Given the description of an element on the screen output the (x, y) to click on. 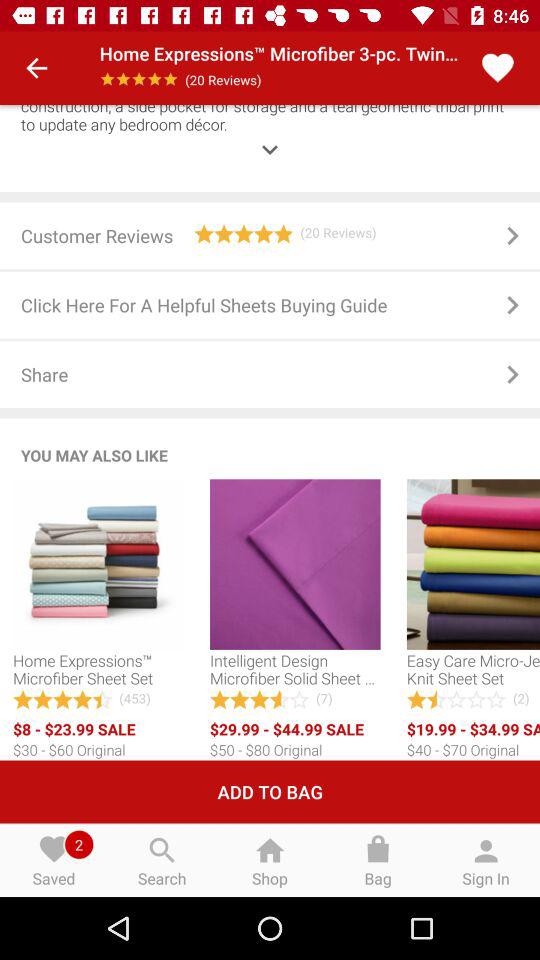
favourite this item (498, 68)
